Given the description of an element on the screen output the (x, y) to click on. 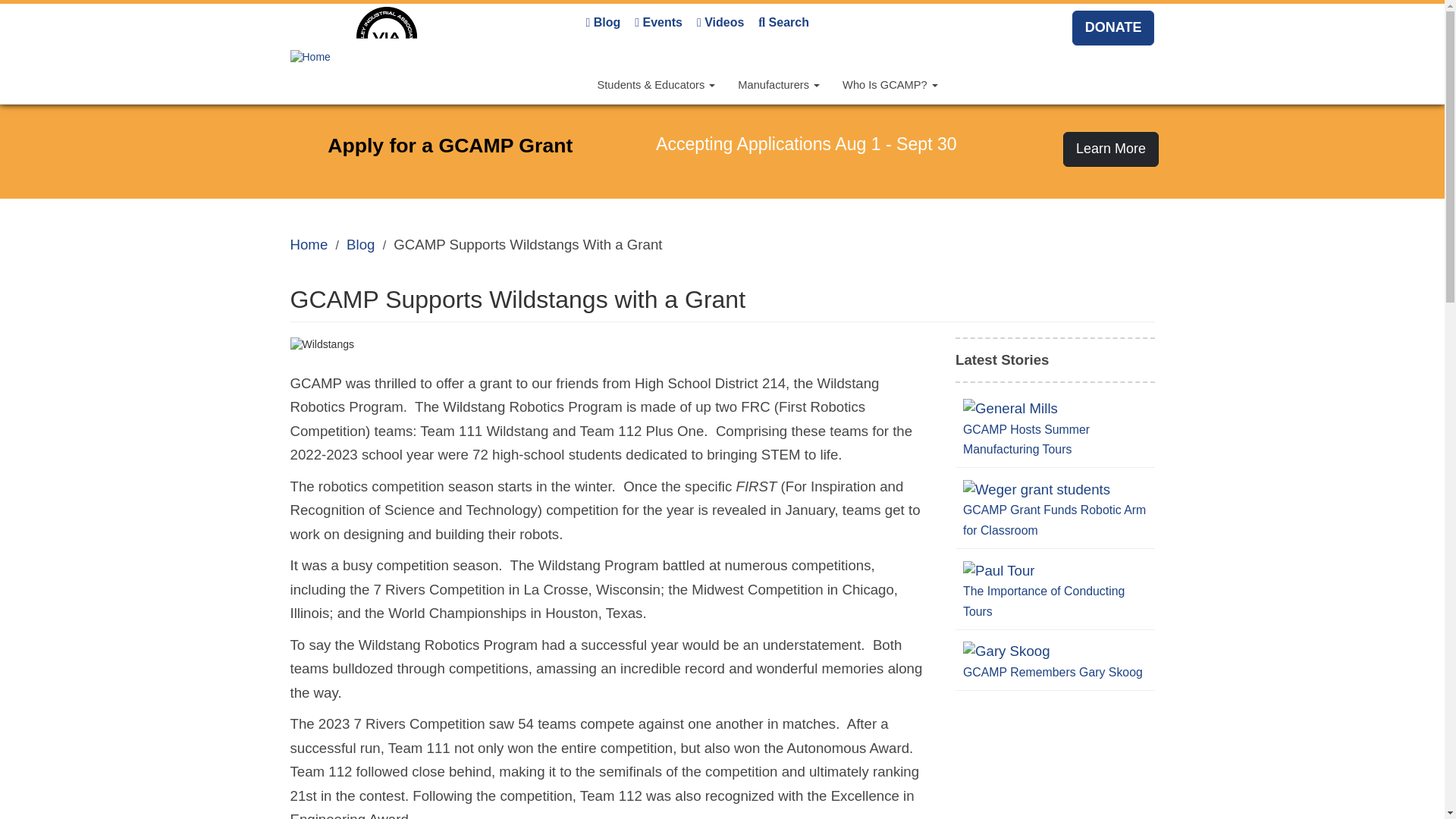
Valley Industrial Association. (397, 55)
Home (322, 55)
